Given the description of an element on the screen output the (x, y) to click on. 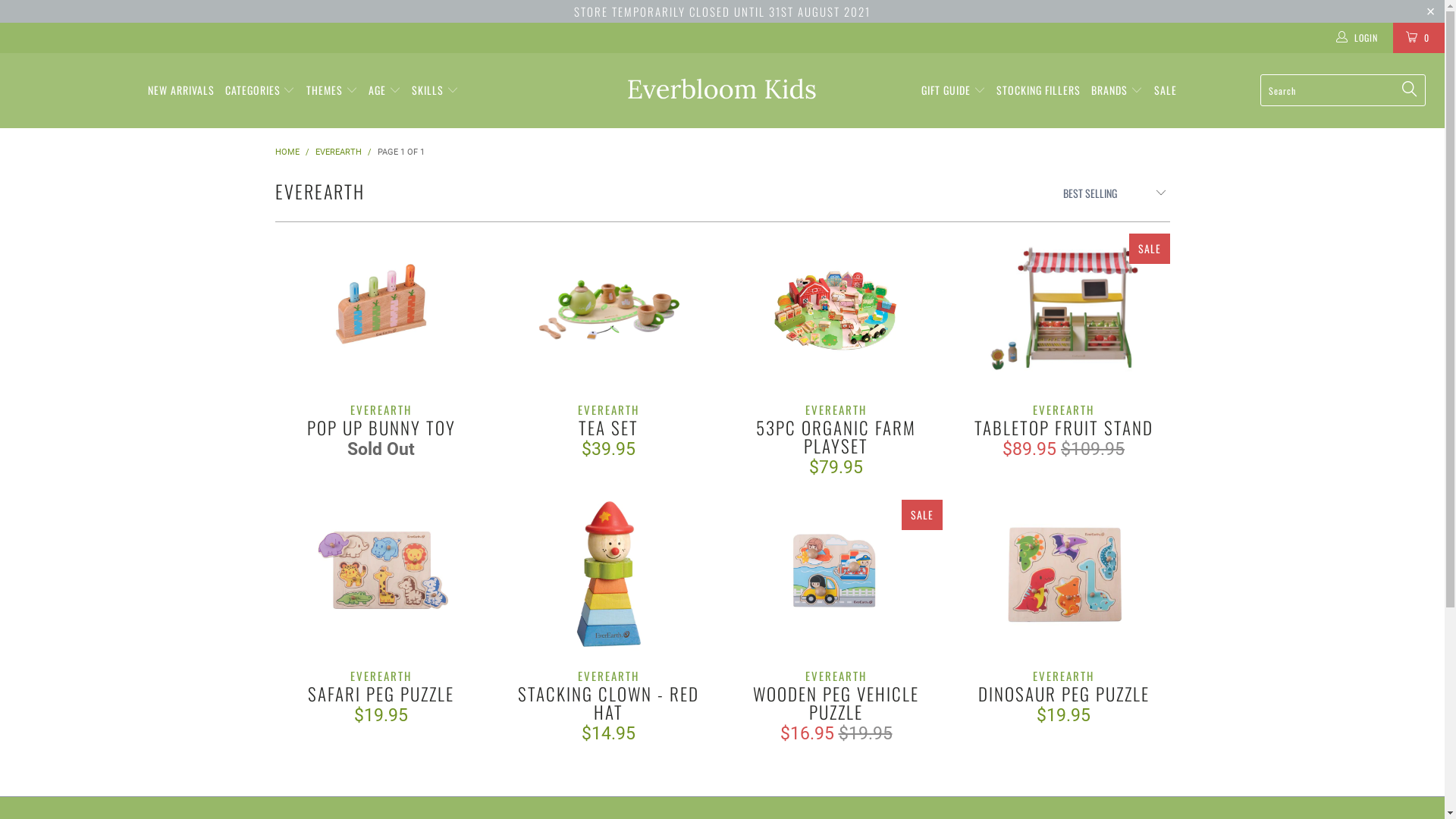
BRANDS Element type: text (1116, 90)
EVEREARTH
POP UP BUNNY TOY
Sold Out Element type: text (380, 429)
0 Element type: text (1418, 37)
AGE Element type: text (384, 90)
Everbloom Kids Element type: hover (721, 88)
EVEREARTH
TABLETOP FRUIT STAND
$89.95 $109.95 Element type: text (1063, 429)
EVEREARTH
WOODEN PEG VEHICLE PUZZLE
$16.95 $19.95 Element type: text (835, 704)
EVEREARTH Element type: text (338, 151)
NEW ARRIVALS Element type: text (180, 90)
SALE Element type: text (1165, 90)
LOGIN Element type: text (1357, 37)
EVEREARTH
SAFARI PEG PUZZLE
$19.95 Element type: text (380, 695)
EVEREARTH
DINOSAUR PEG PUZZLE
$19.95 Element type: text (1063, 695)
GIFT GUIDE Element type: text (953, 90)
HOME Element type: text (286, 151)
CATEGORIES Element type: text (260, 90)
EVEREARTH
STACKING CLOWN - RED HAT
$14.95 Element type: text (608, 704)
EVEREARTH
53PC ORGANIC FARM PLAYSET
$79.95 Element type: text (835, 438)
STOCKING FILLERS Element type: text (1038, 90)
SKILLS Element type: text (434, 90)
THEMES Element type: text (331, 90)
EVEREARTH
TEA SET
$39.95 Element type: text (608, 429)
